Given the description of an element on the screen output the (x, y) to click on. 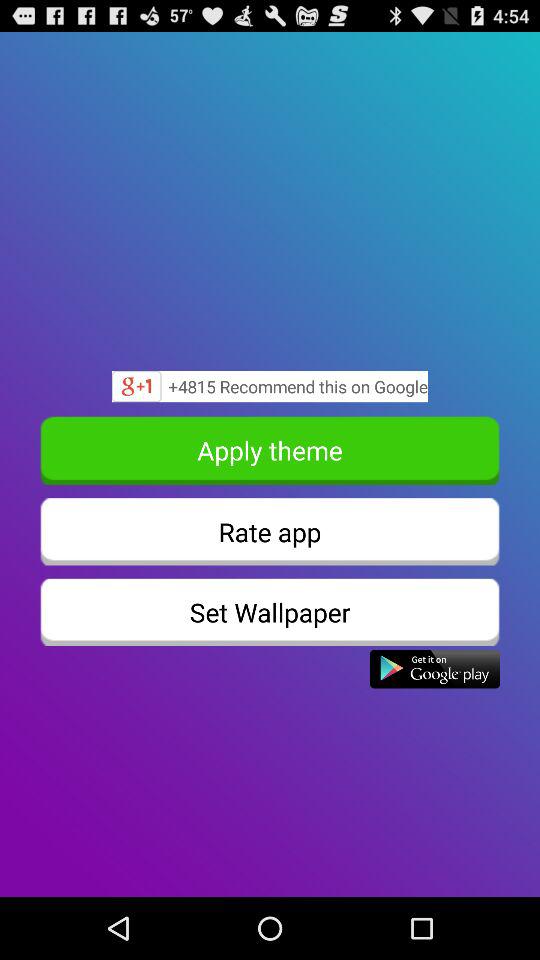
choose apply theme icon (269, 450)
